Given the description of an element on the screen output the (x, y) to click on. 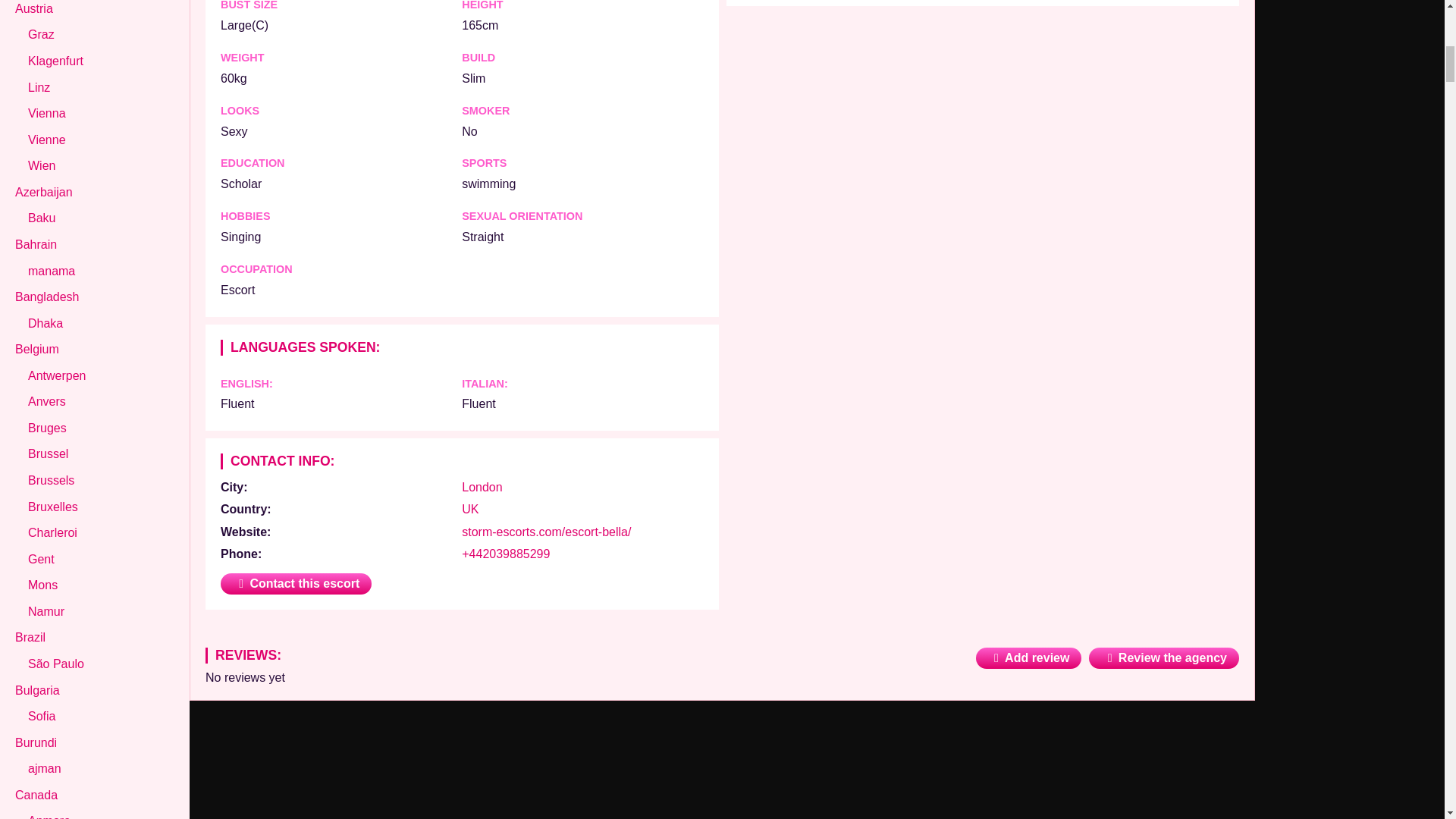
UK (470, 508)
London (481, 486)
Review the agency (1164, 658)
London (481, 486)
UK (470, 508)
